Given the description of an element on the screen output the (x, y) to click on. 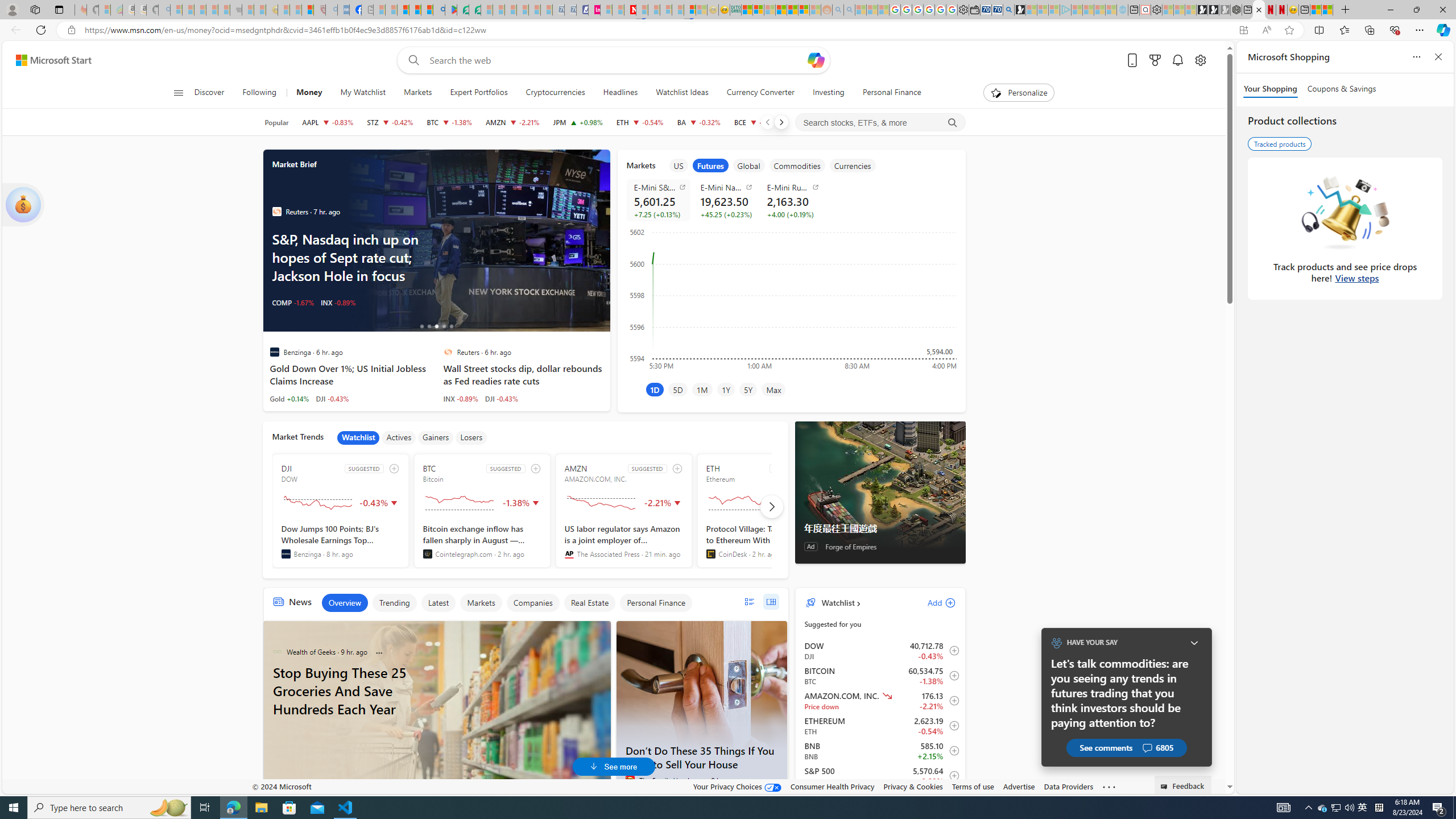
Markets (417, 92)
Microsoft Word - consumer-privacy address update 2.2021 (475, 9)
list layout (749, 601)
BTC SUGGESTED Bitcoin (481, 510)
5Y (747, 389)
Class: feedback_link_icon-DS-EntryPoint1-1 (1165, 786)
INX S&P 500 decrease 5,570.64 -50.21 -0.89% item5 (880, 775)
Class: recharts-surface (791, 298)
JPM JPMORGAN CHASE & CO. increase 216.71 +2.11 +0.98% (578, 122)
